Given the description of an element on the screen output the (x, y) to click on. 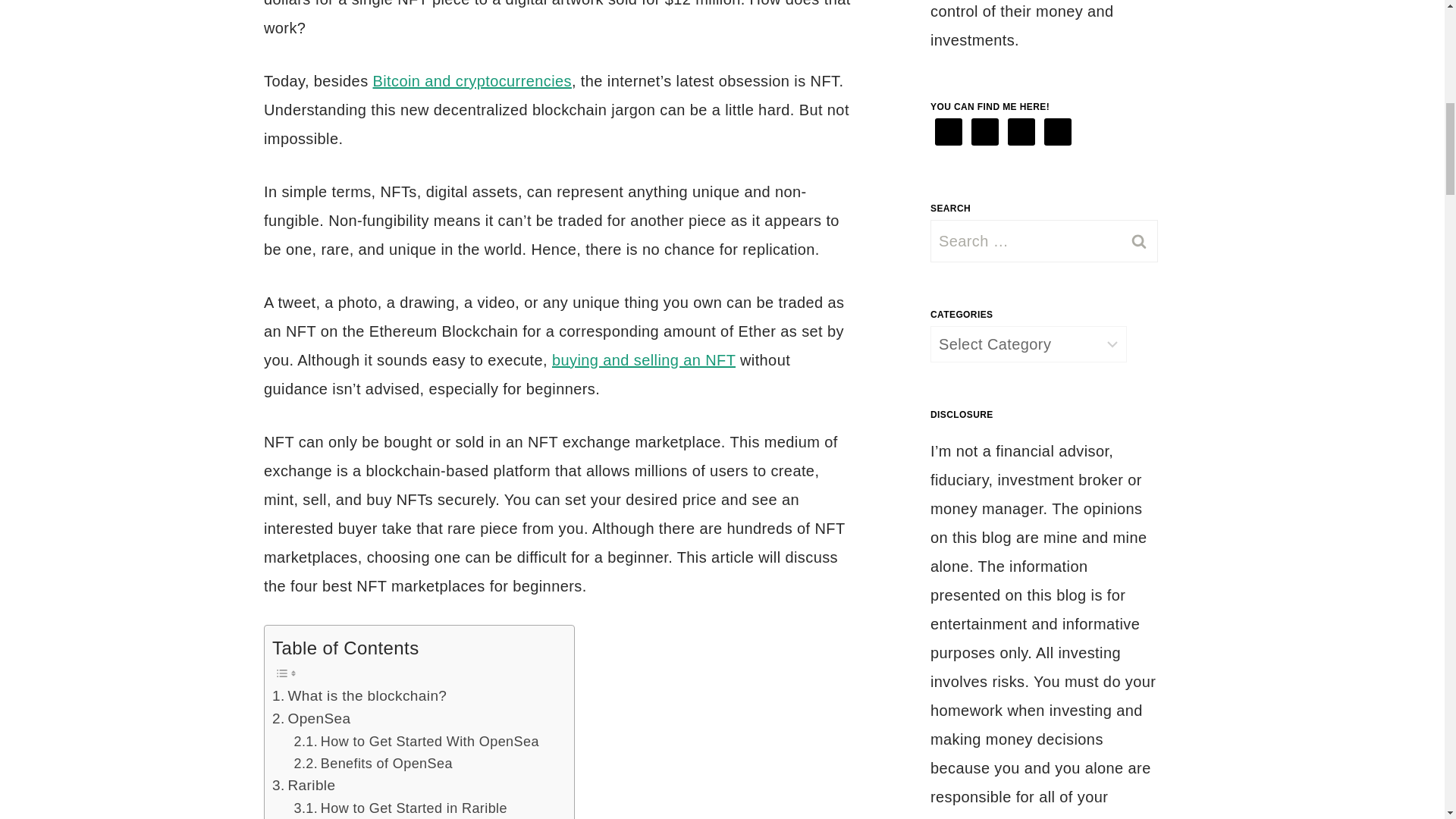
How to Get Started in Rarible (400, 808)
What is the blockchain? (359, 695)
OpenSea (311, 718)
OpenSea (311, 718)
Benefits of OpenSea (373, 762)
What is the blockchain? (359, 695)
Search (1138, 241)
Search (1138, 241)
How to Get Started With OpenSea (416, 741)
Bitcoin and cryptocurrencies (472, 80)
Rarible (303, 784)
buying and selling an NFT (643, 360)
